Given the description of an element on the screen output the (x, y) to click on. 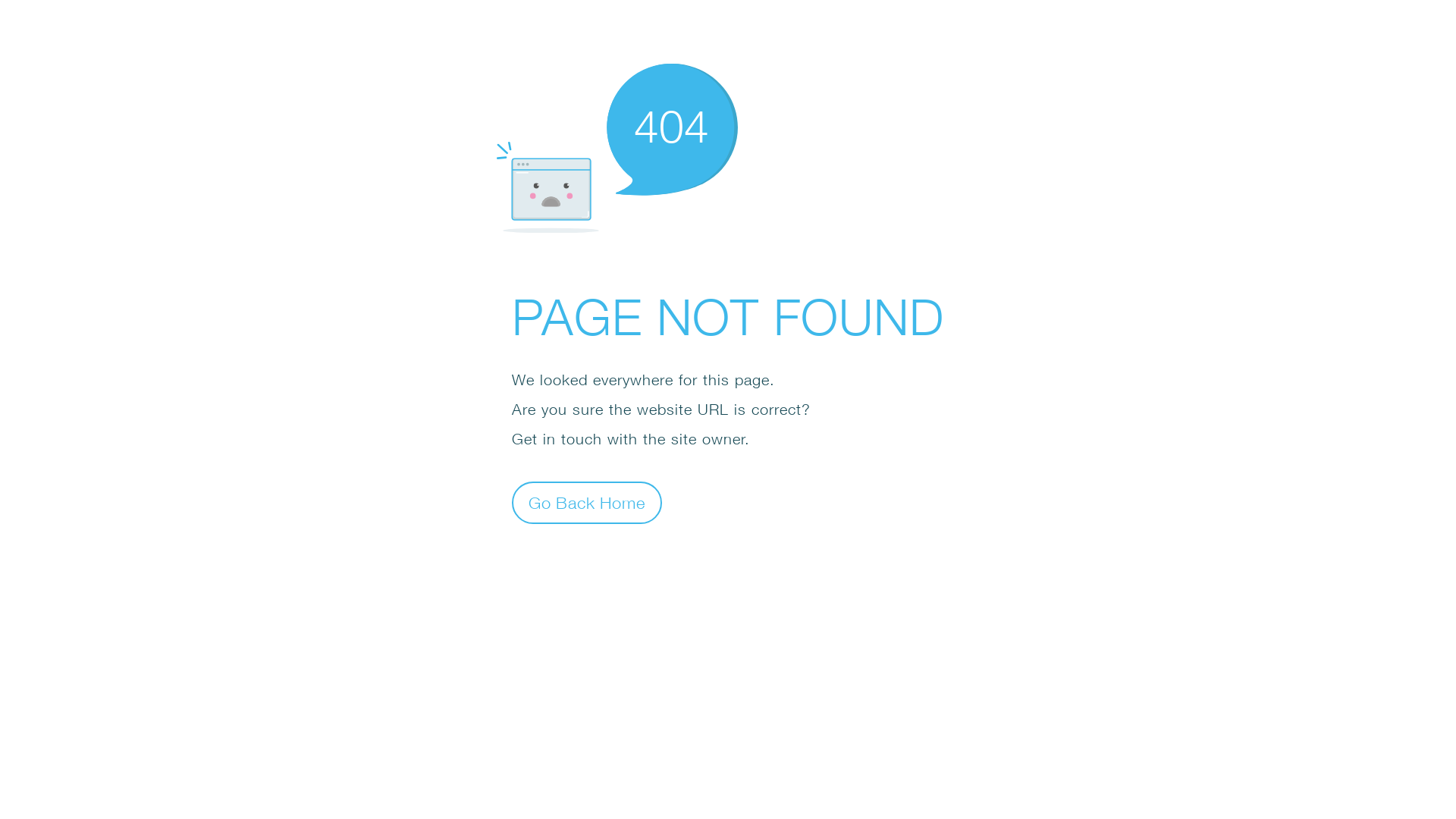
Go Back Home Element type: text (586, 502)
